Given the description of an element on the screen output the (x, y) to click on. 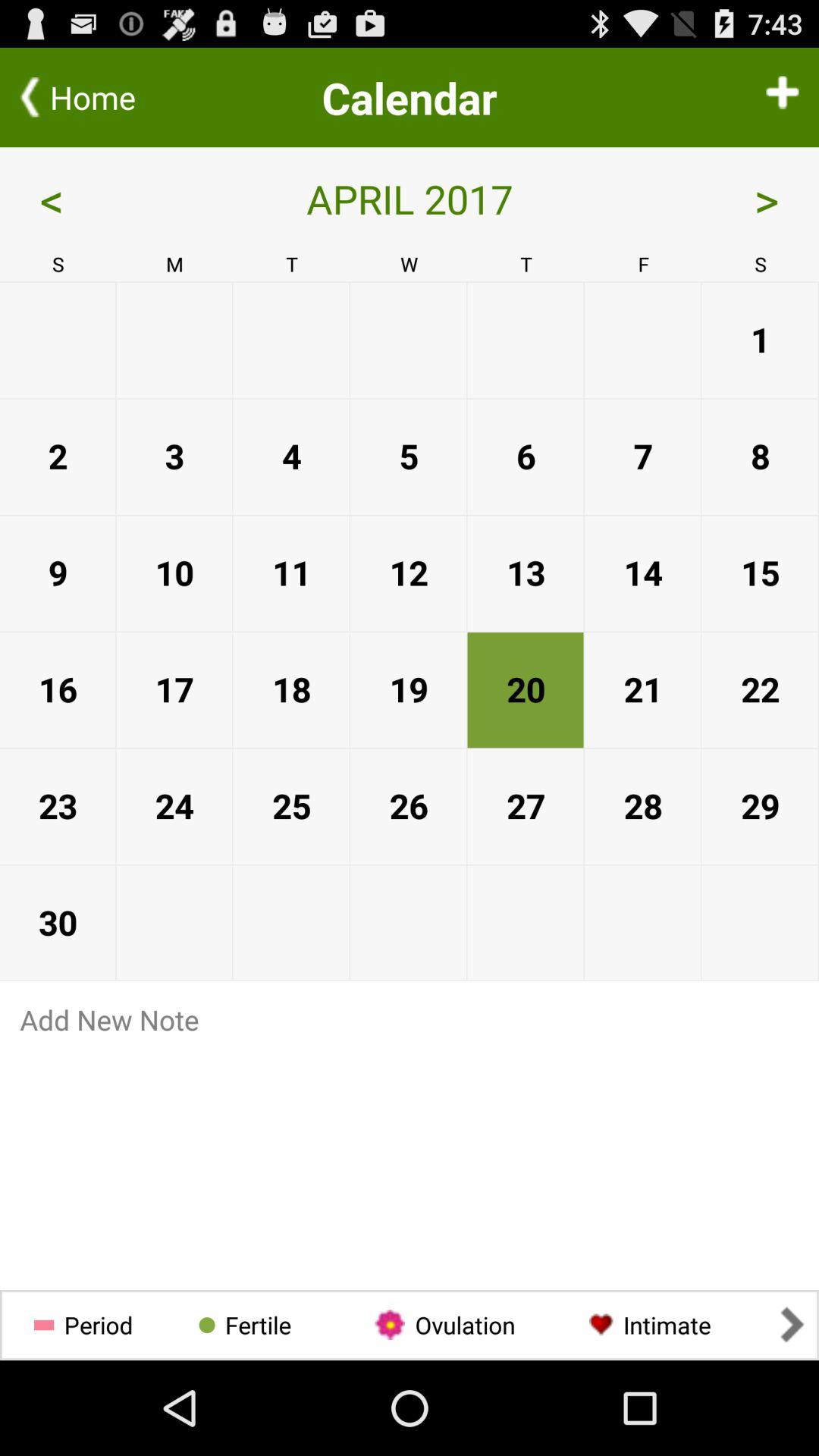
tap icon next to the < app (782, 97)
